Given the description of an element on the screen output the (x, y) to click on. 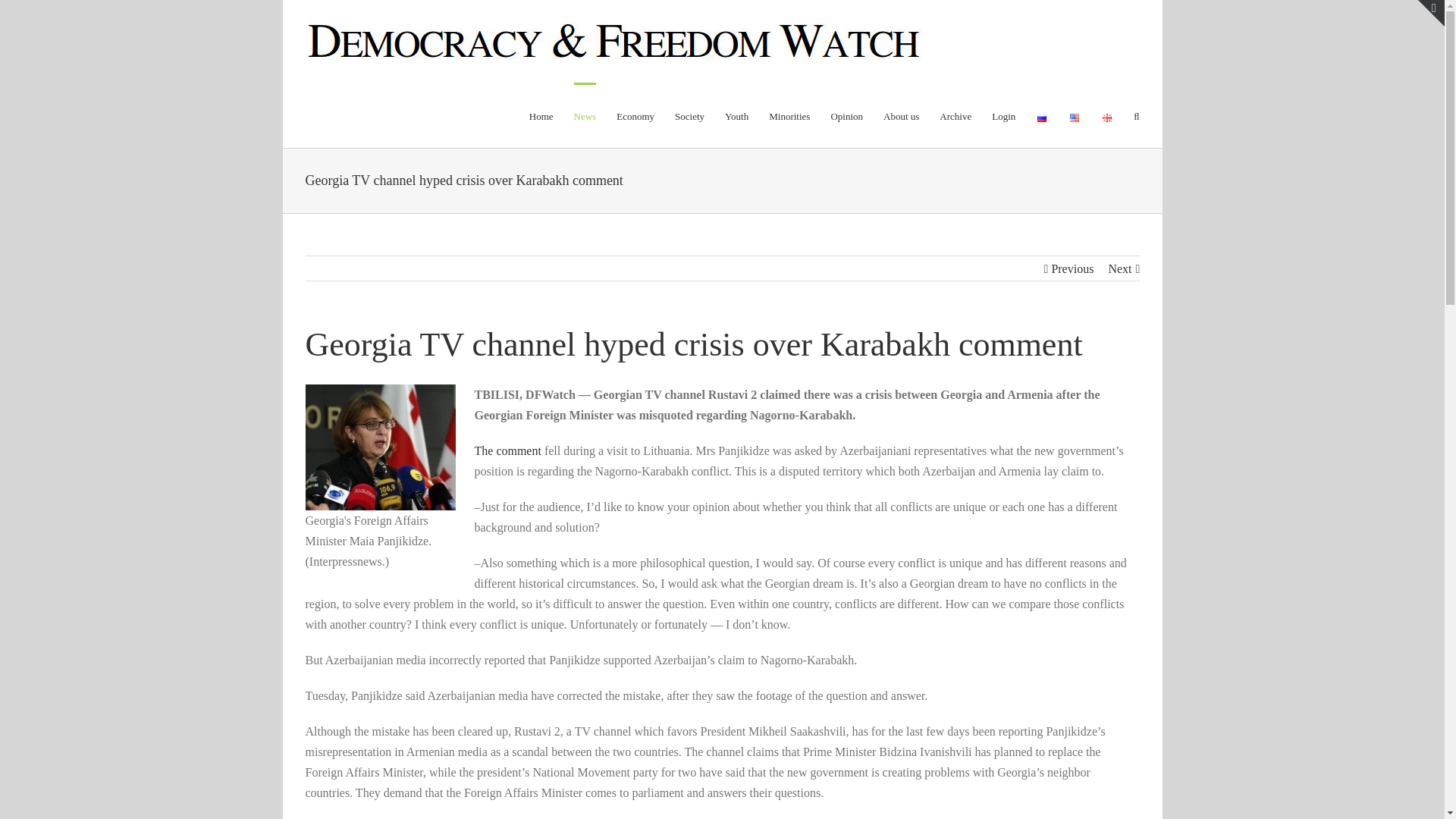
Maia Panjikidze - Karabakh comment (507, 450)
maya panjikidze (379, 447)
